Given the description of an element on the screen output the (x, y) to click on. 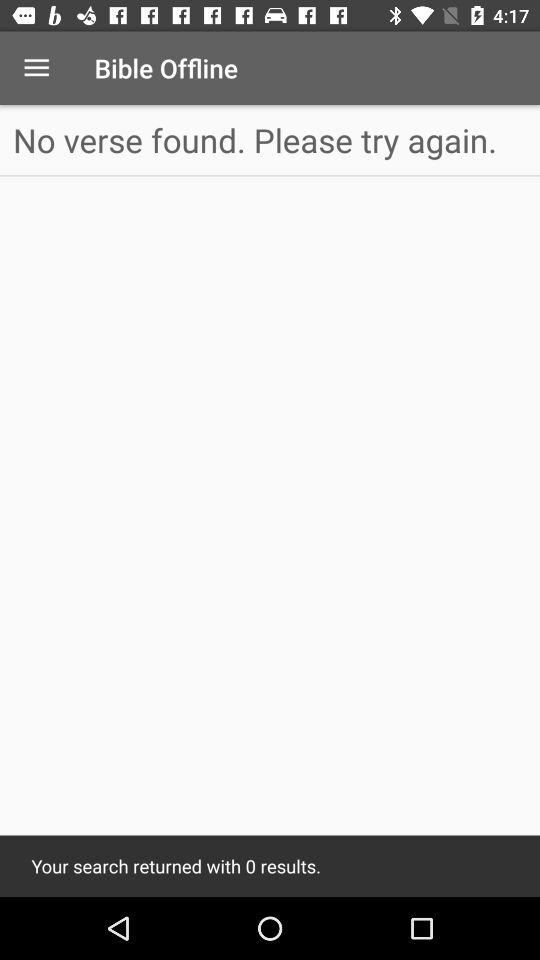
press the no verse found at the top (270, 140)
